Given the description of an element on the screen output the (x, y) to click on. 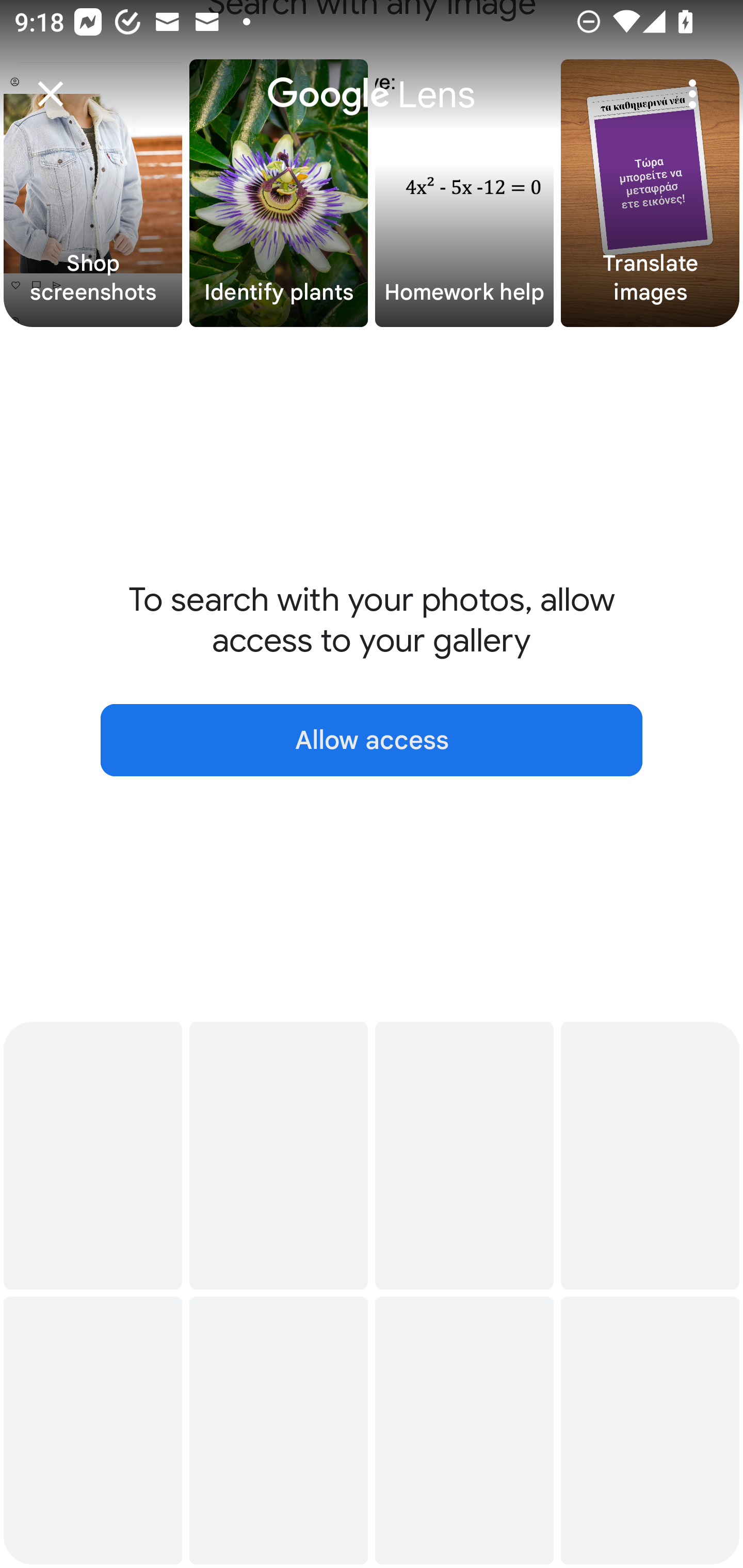
Close (50, 94)
More options (692, 94)
Shop screenshots (92, 193)
Identify plants (278, 193)
Homework help (464, 193)
Translate images (649, 193)
Allow access (371, 740)
